Given the description of an element on the screen output the (x, y) to click on. 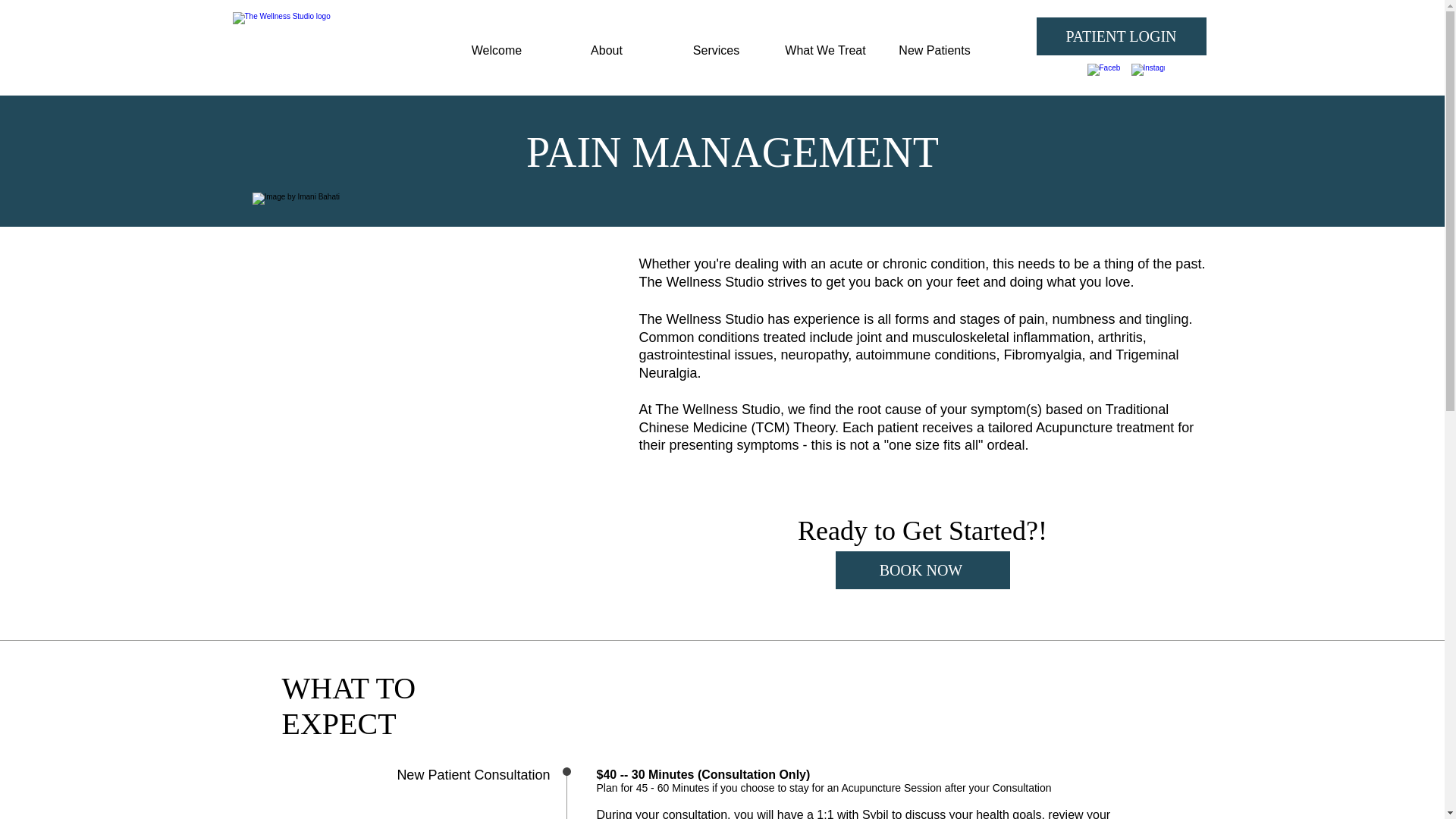
PATIENT LOGIN (1120, 36)
BOOK NOW (922, 569)
Welcome (496, 50)
